Given the description of an element on the screen output the (x, y) to click on. 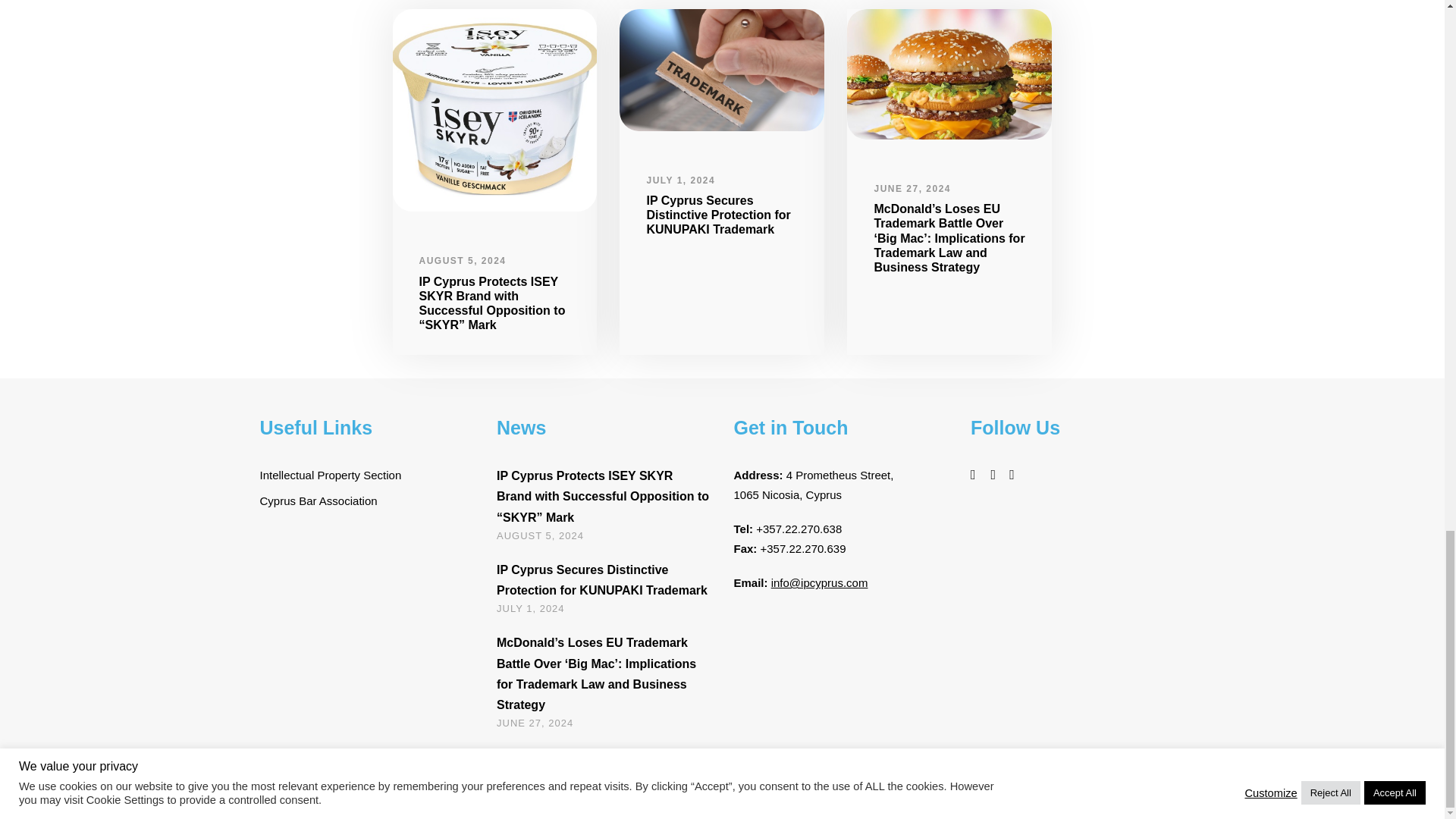
isey skyr (494, 110)
AUGUST 5, 2024 (462, 260)
JUNE 27, 2024 (911, 188)
Privacy and Cookies Policy (1121, 793)
JULY 1, 2024 (680, 180)
JULY 1, 2024 (530, 608)
AUGUST 5, 2024 (539, 535)
mark mark (722, 69)
BIG MAC (949, 74)
